Given the description of an element on the screen output the (x, y) to click on. 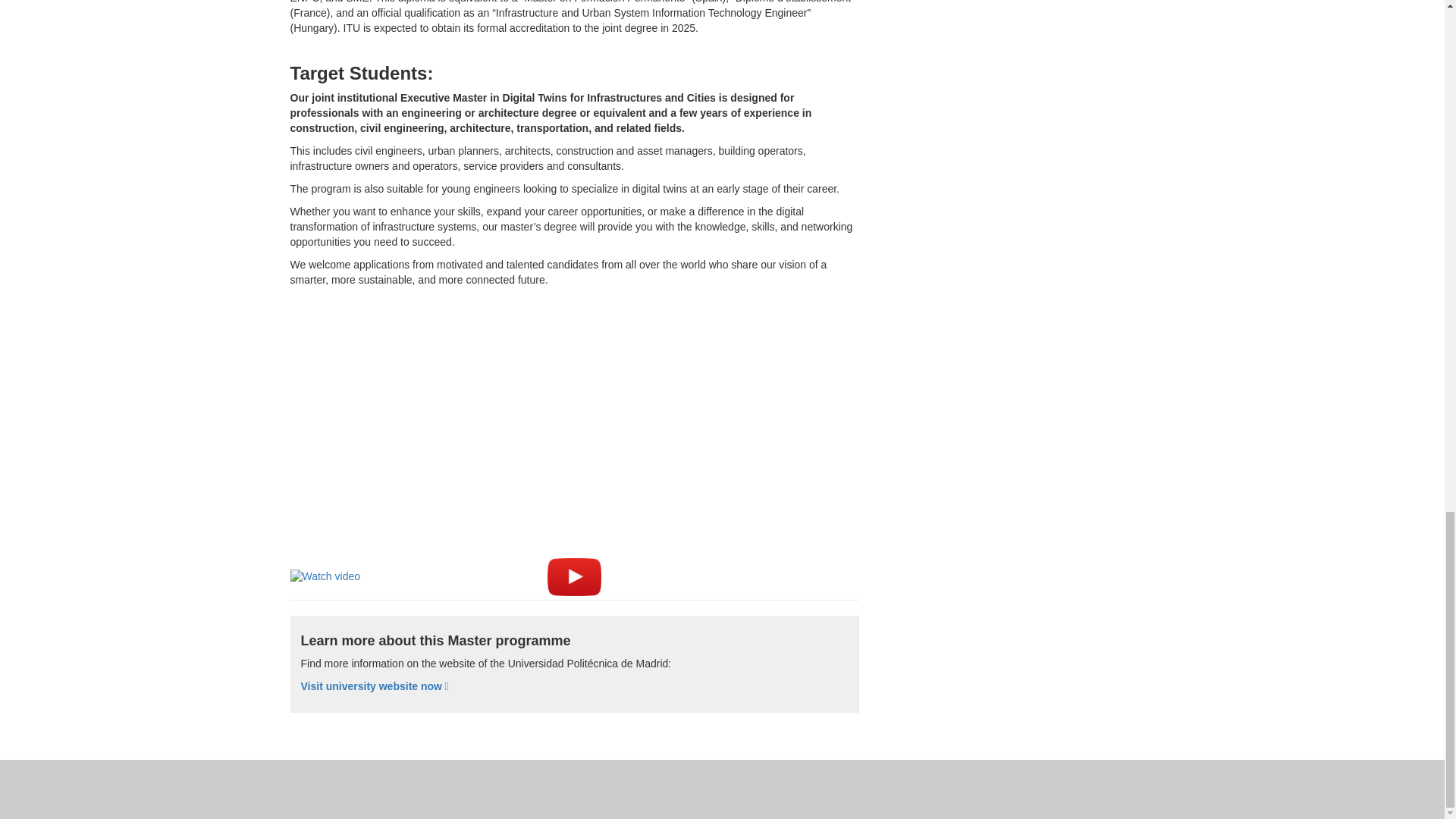
Watch video (324, 576)
Visit university website (373, 686)
Visit university website now (373, 686)
